Given the description of an element on the screen output the (x, y) to click on. 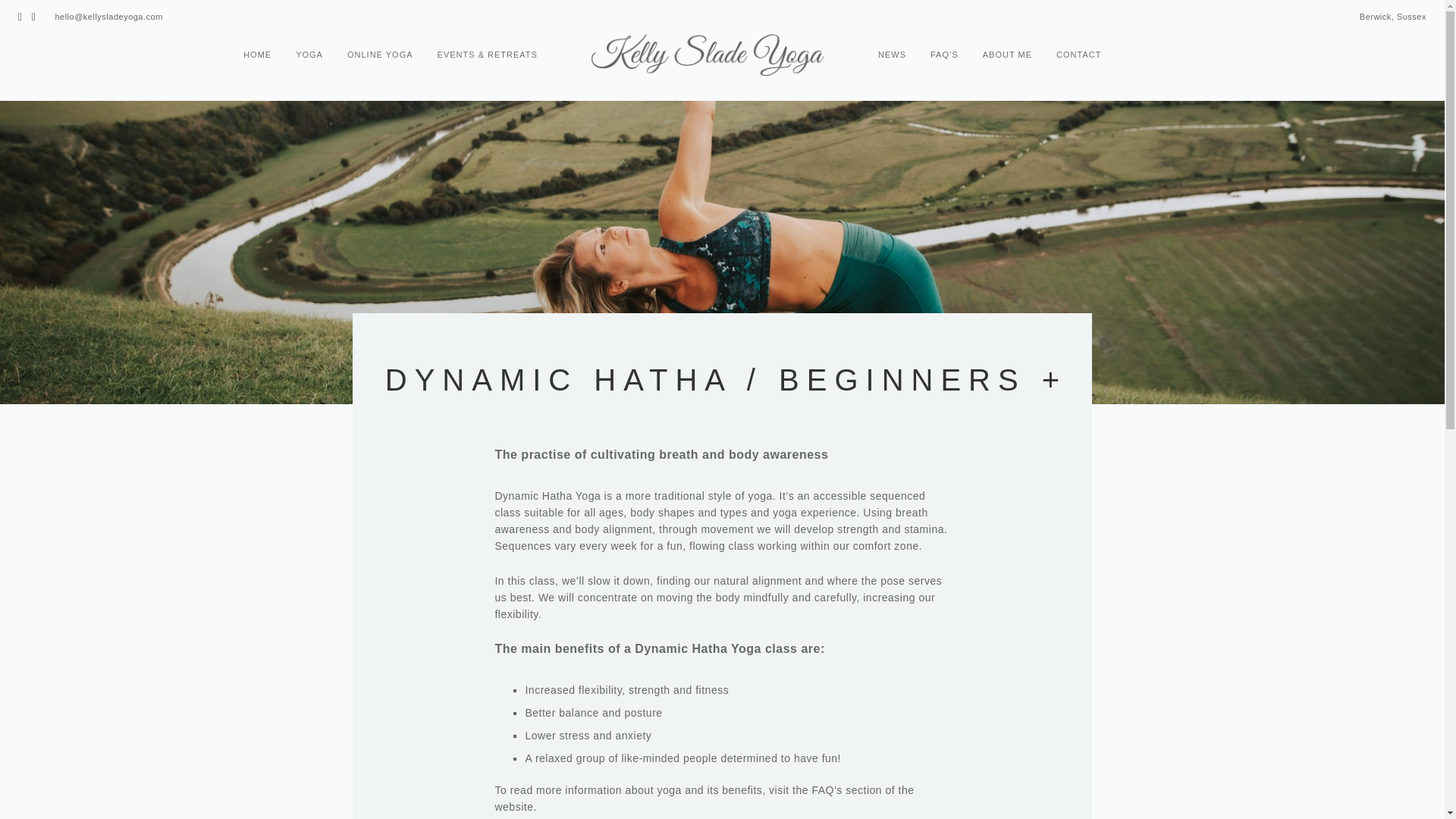
ABOUT ME (1007, 57)
CONTACT (1078, 57)
ONLINE YOGA (380, 57)
